Given the description of an element on the screen output the (x, y) to click on. 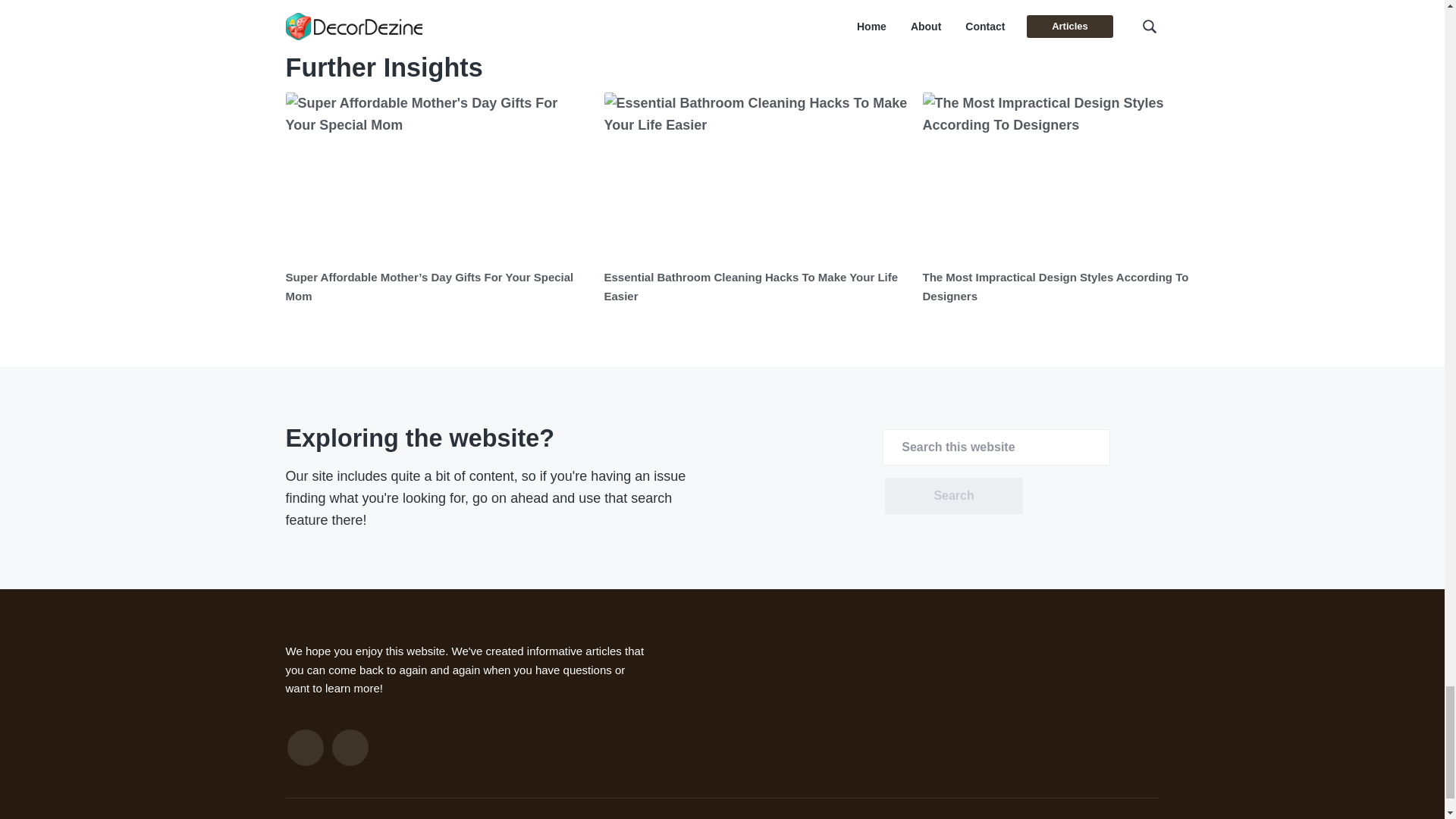
Essential Bathroom Cleaning Hacks To Make Your Life Easier (751, 286)
Search (953, 495)
Search (953, 495)
The Most Impractical Design Styles According To Designers (1054, 286)
